Given the description of an element on the screen output the (x, y) to click on. 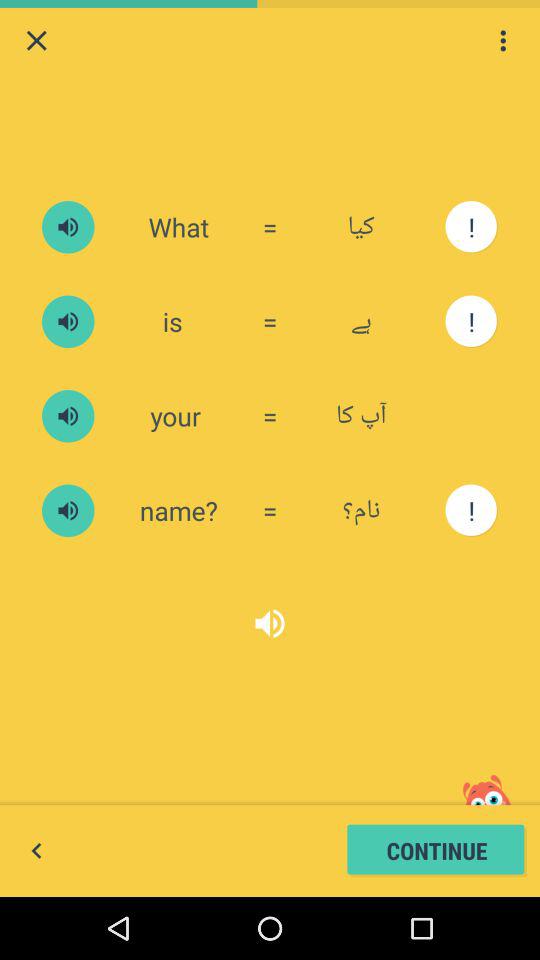
hear the word spoken (68, 321)
